Given the description of an element on the screen output the (x, y) to click on. 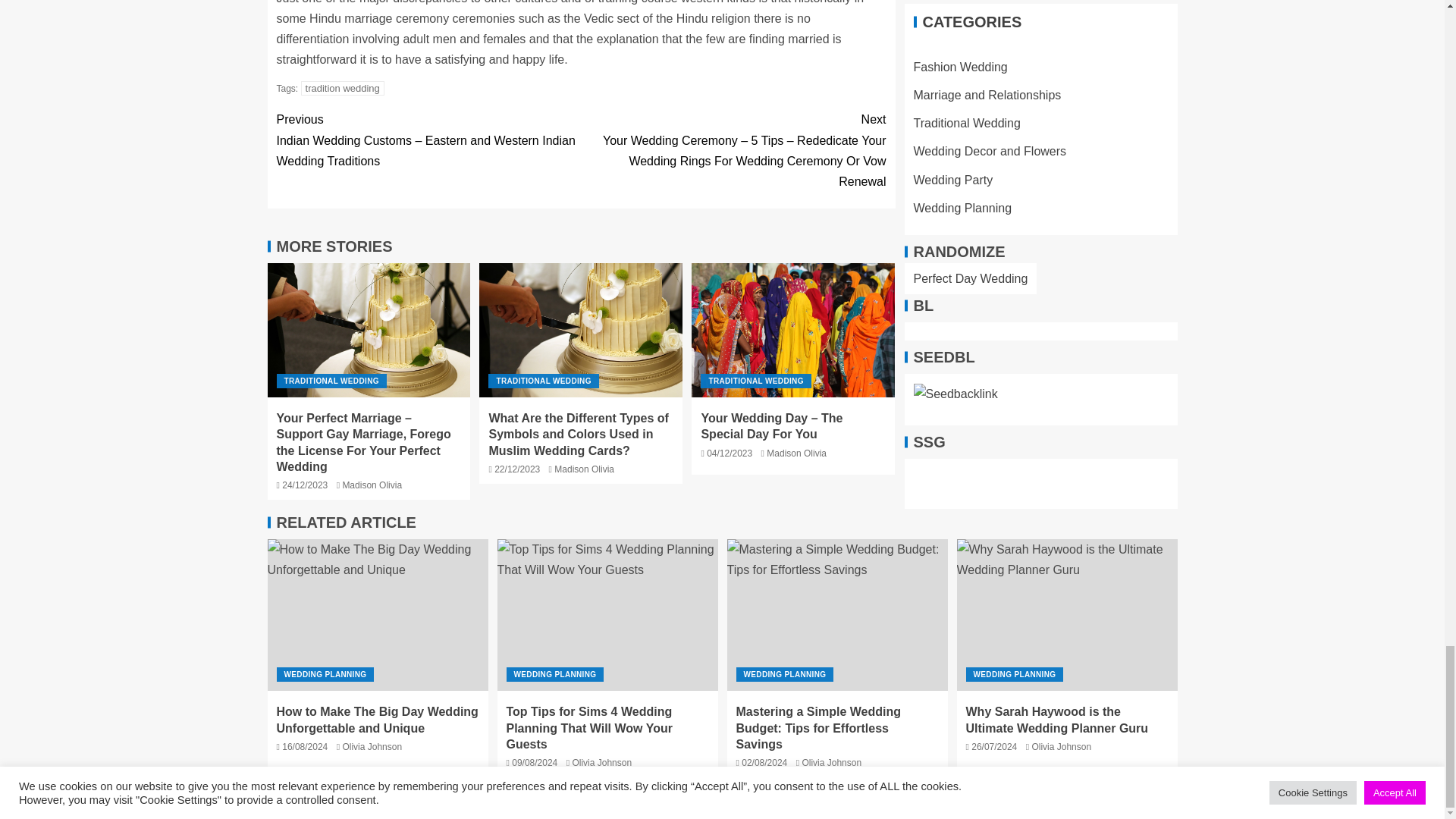
Madison Olivia (584, 469)
Why Sarah Haywood is the Ultimate Wedding Planner Guru (1066, 614)
TRADITIONAL WEDDING (330, 380)
TRADITIONAL WEDDING (542, 380)
TRADITIONAL WEDDING (755, 380)
tradition wedding (342, 88)
Madison Olivia (371, 484)
